Given the description of an element on the screen output the (x, y) to click on. 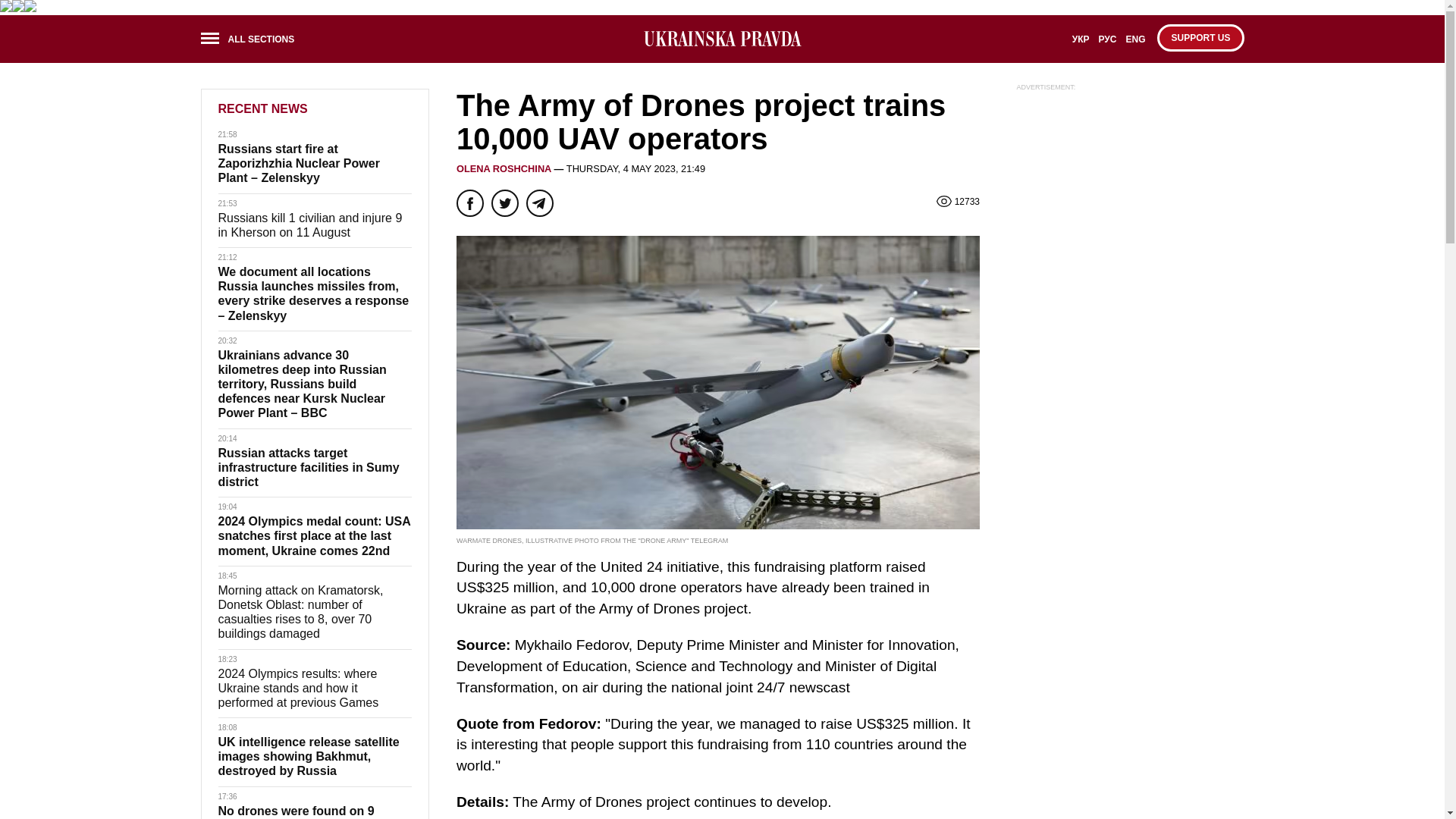
ALL SECTIONS (251, 41)
OLENA ROSHCHINA (504, 168)
ENG (1135, 43)
SUPPORT US (1200, 37)
Ukrainska pravda (722, 40)
Ukrainska pravda (722, 38)
